Given the description of an element on the screen output the (x, y) to click on. 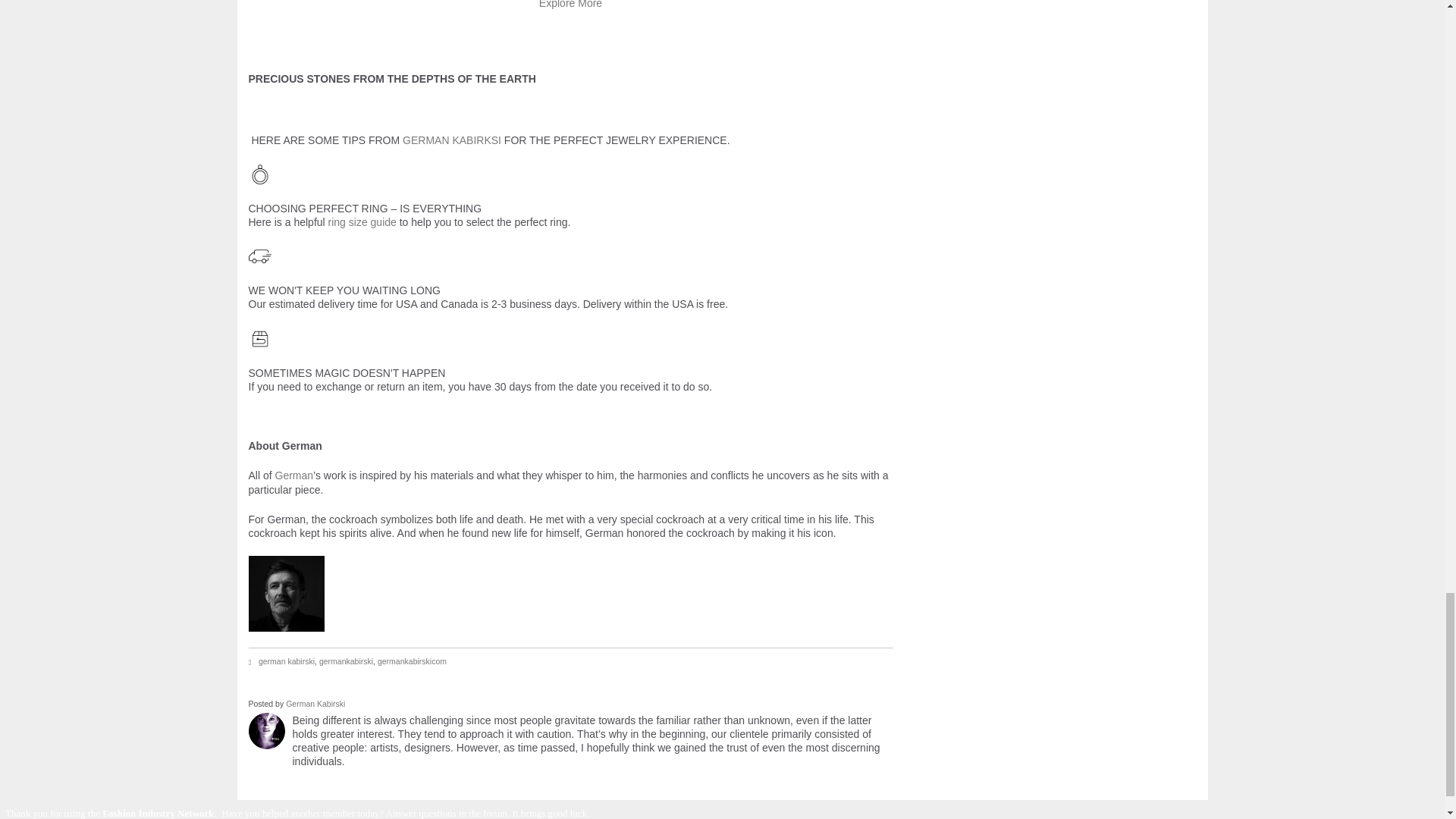
Tags: (252, 662)
